Given the description of an element on the screen output the (x, y) to click on. 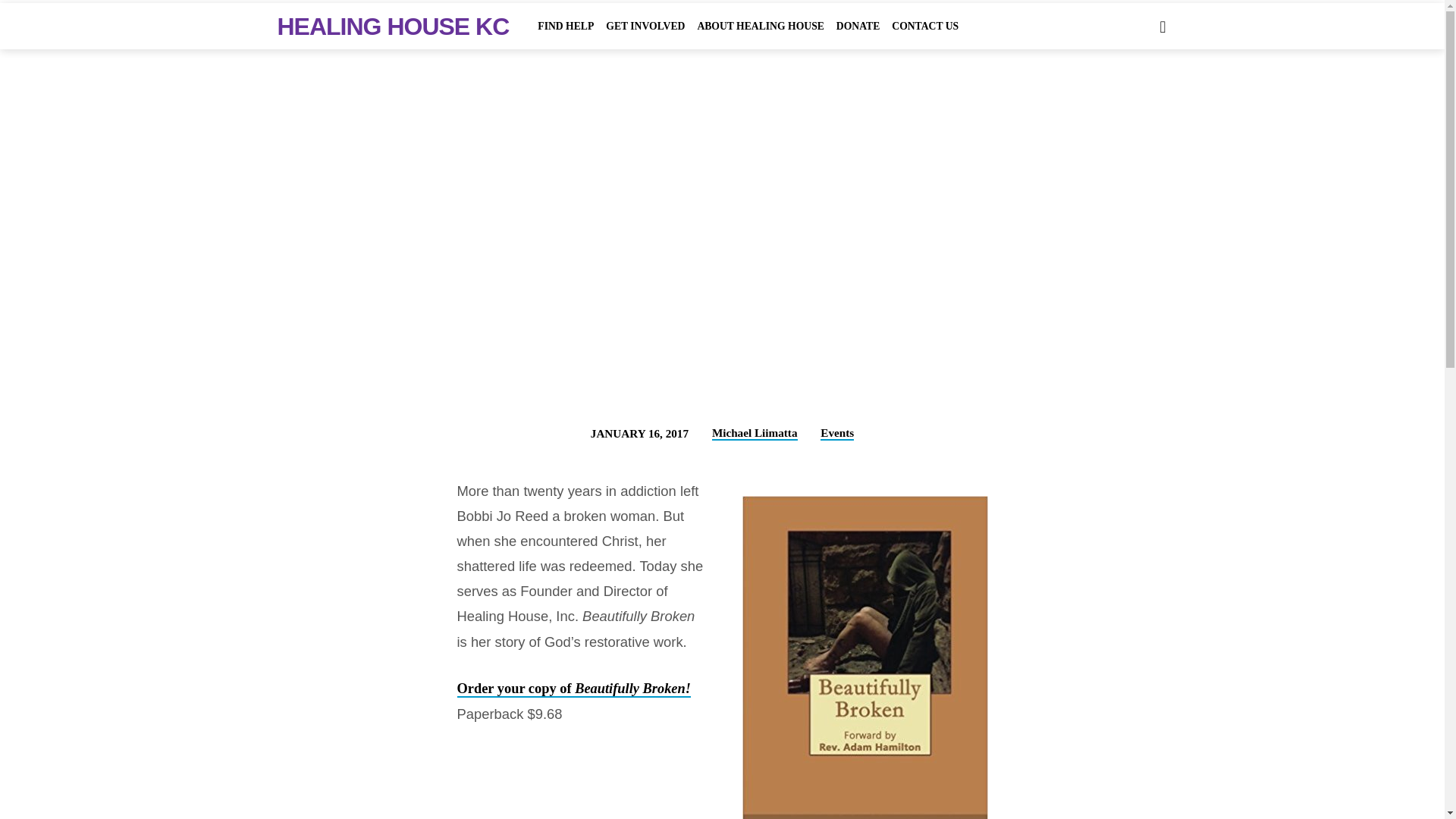
ABOUT HEALING HOUSE (760, 35)
FIND HELP (565, 35)
DONATE (857, 35)
GET INVOLVED (644, 35)
HEALING HOUSE KC (393, 25)
CONTACT US (924, 35)
